Given the description of an element on the screen output the (x, y) to click on. 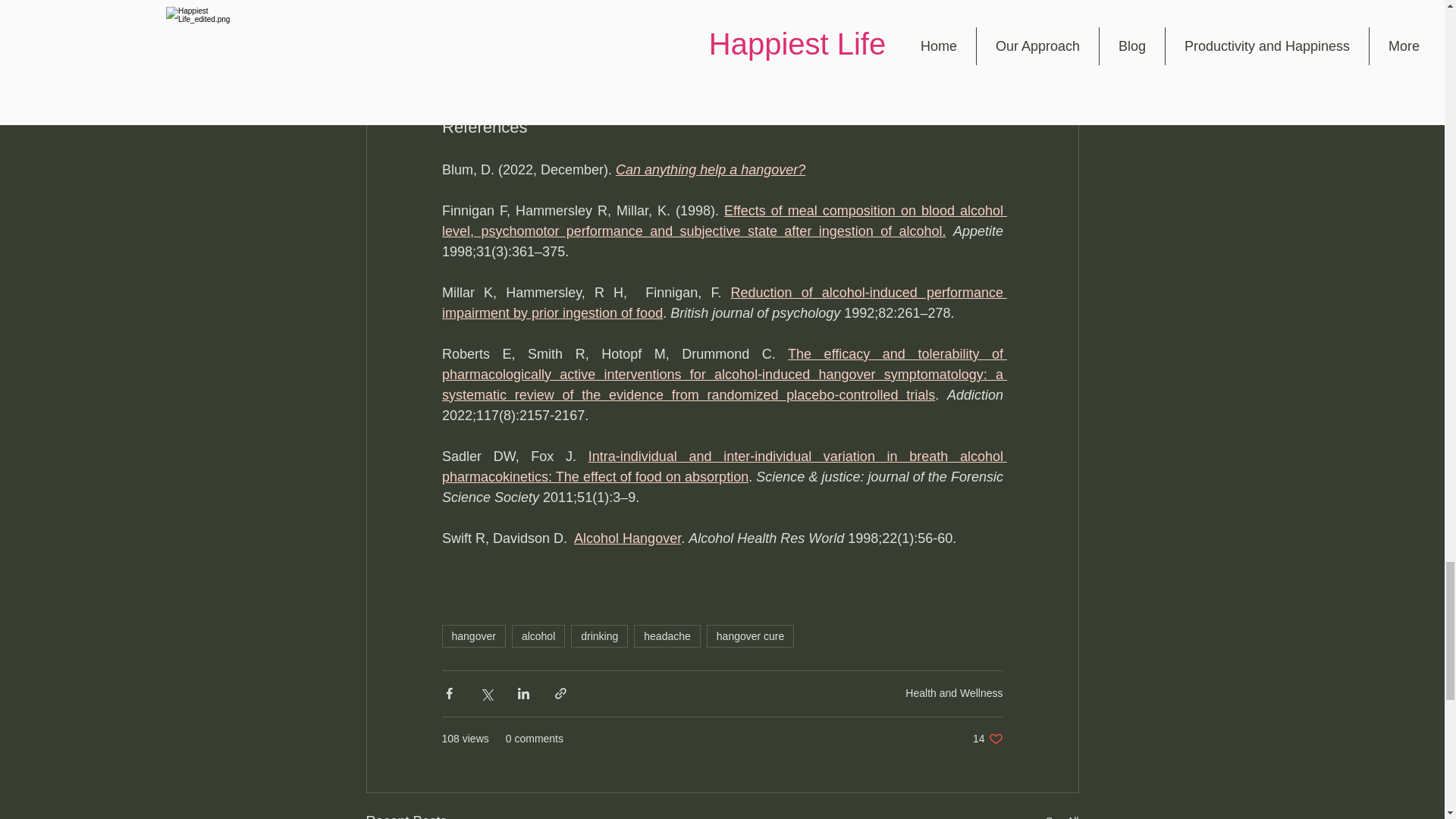
Can anything help a hangover? (710, 169)
drinking (598, 635)
alcohol (538, 635)
hangover (473, 635)
Alcohol Hangover (627, 538)
headache (666, 635)
